Given the description of an element on the screen output the (x, y) to click on. 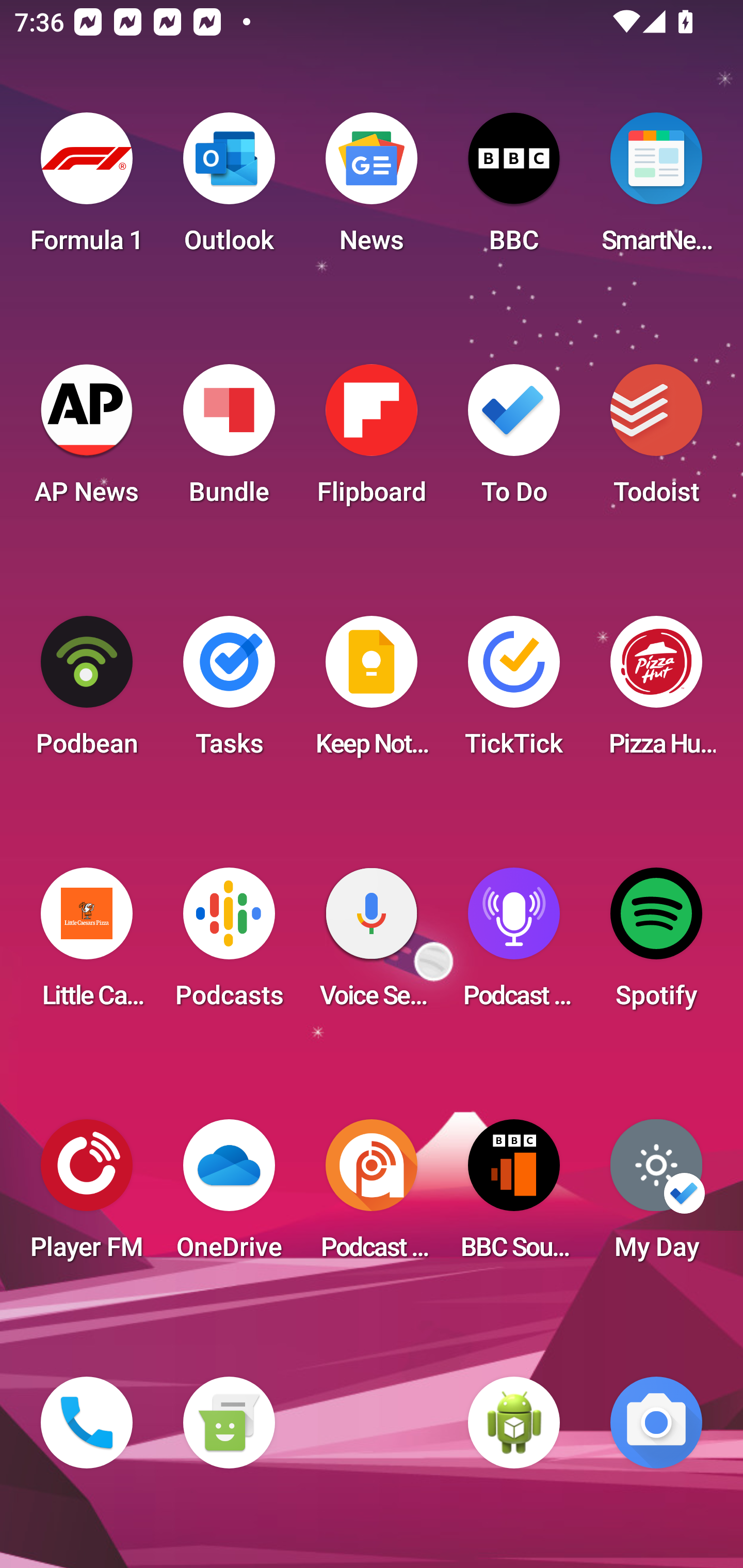
Formula 1 (86, 188)
Outlook (228, 188)
News (371, 188)
BBC (513, 188)
SmartNews (656, 188)
AP News (86, 440)
Bundle (228, 440)
Flipboard (371, 440)
To Do (513, 440)
Todoist (656, 440)
Podbean (86, 692)
Tasks (228, 692)
Keep Notes (371, 692)
TickTick (513, 692)
Pizza Hut HK & Macau (656, 692)
Little Caesars Pizza (86, 943)
Podcasts (228, 943)
Voice Search (371, 943)
Podcast Player (513, 943)
Spotify (656, 943)
Player FM (86, 1195)
OneDrive (228, 1195)
Podcast Addict (371, 1195)
BBC Sounds (513, 1195)
My Day (656, 1195)
Phone (86, 1422)
Messaging (228, 1422)
WebView Browser Tester (513, 1422)
Camera (656, 1422)
